Given the description of an element on the screen output the (x, y) to click on. 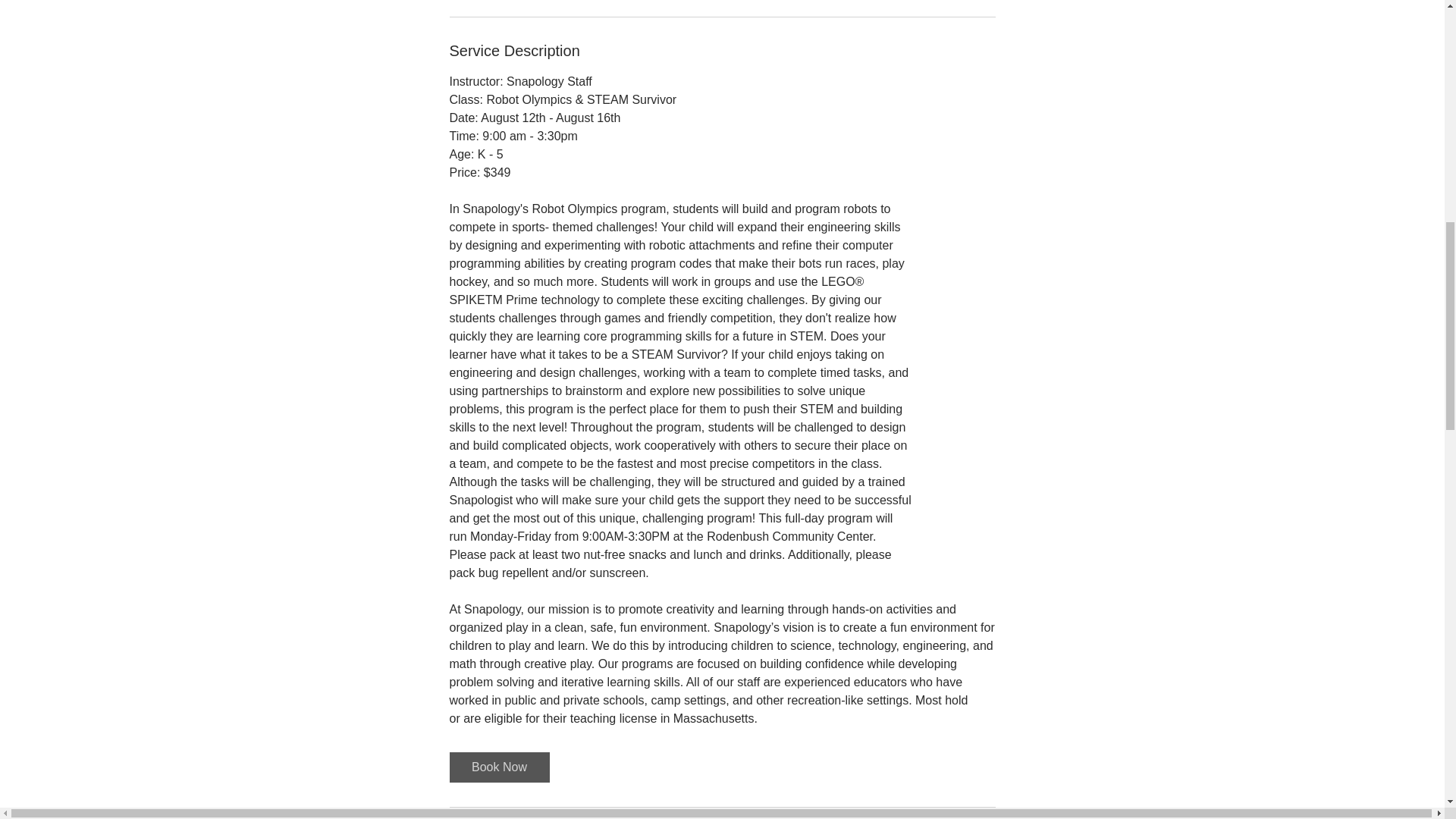
Book Now (498, 767)
